Given the description of an element on the screen output the (x, y) to click on. 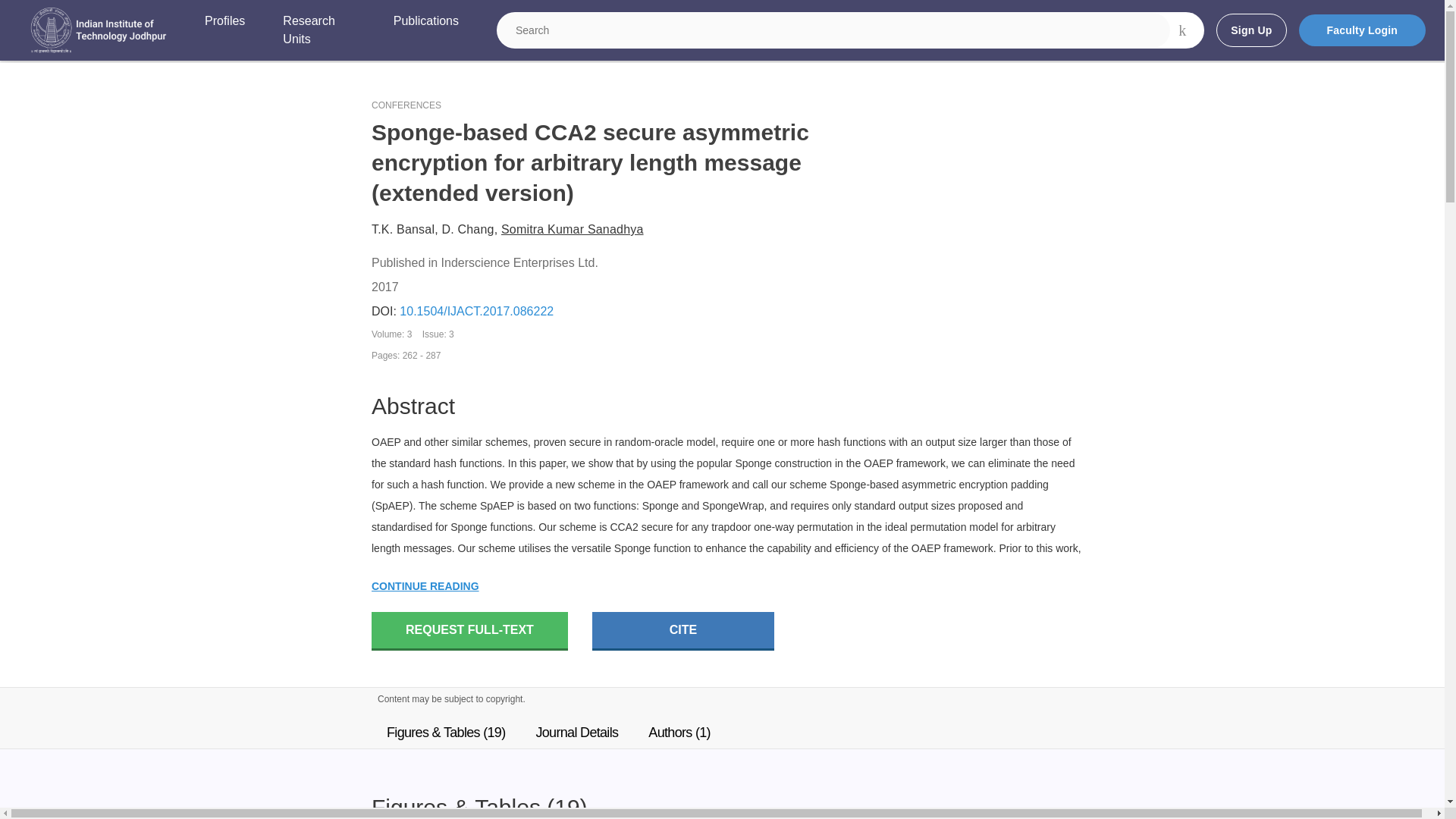
Institution logo (98, 30)
CITE (683, 630)
REQUEST FULL-TEXT (469, 630)
Research Units (318, 30)
Somitra Kumar Sanadhya (571, 228)
Sign Up (1250, 29)
Profiles (224, 30)
Publications (425, 30)
Journal Details (576, 732)
Faculty Login (1361, 29)
